Given the description of an element on the screen output the (x, y) to click on. 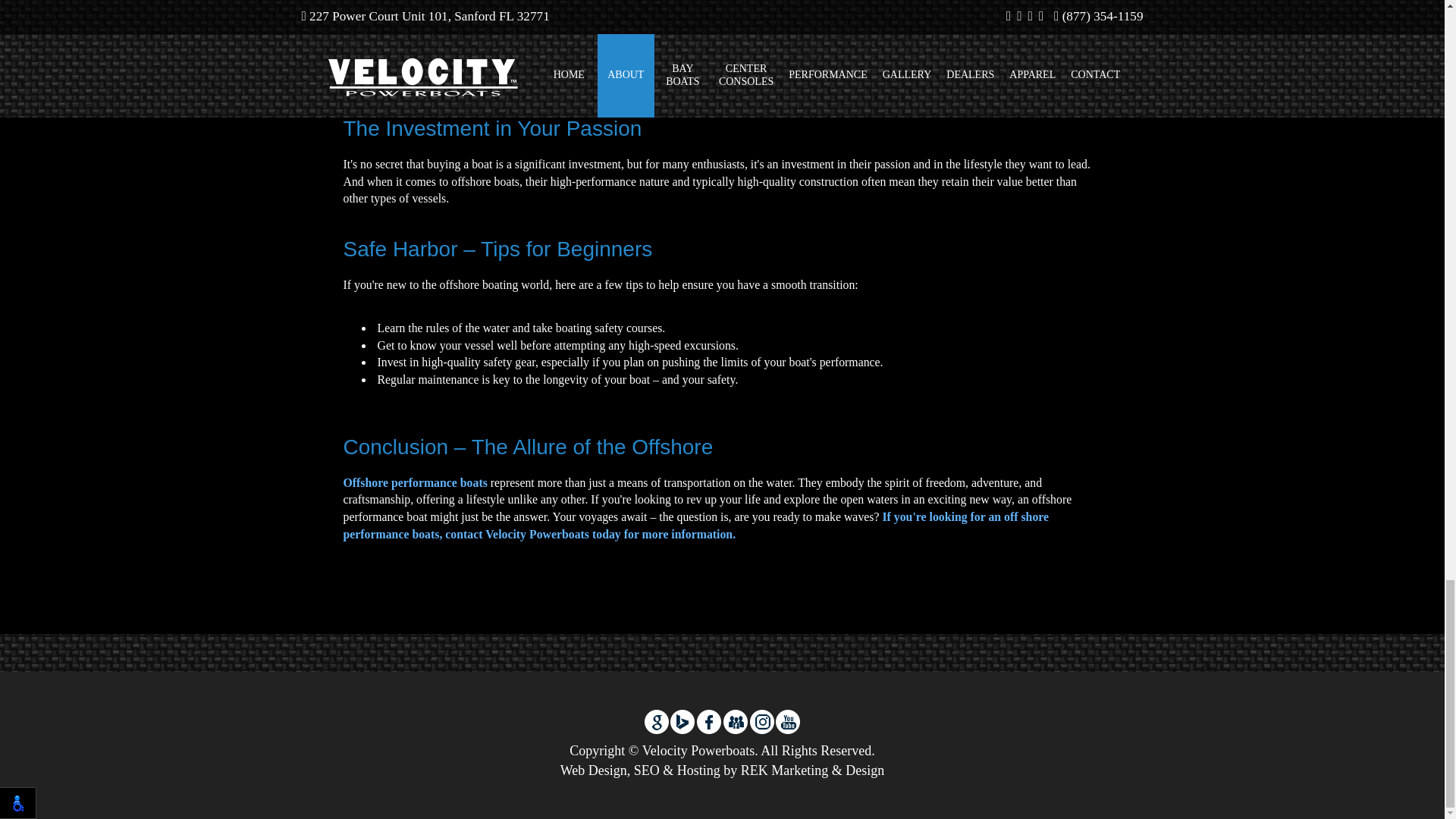
Offshore performance boats (414, 481)
